Given the description of an element on the screen output the (x, y) to click on. 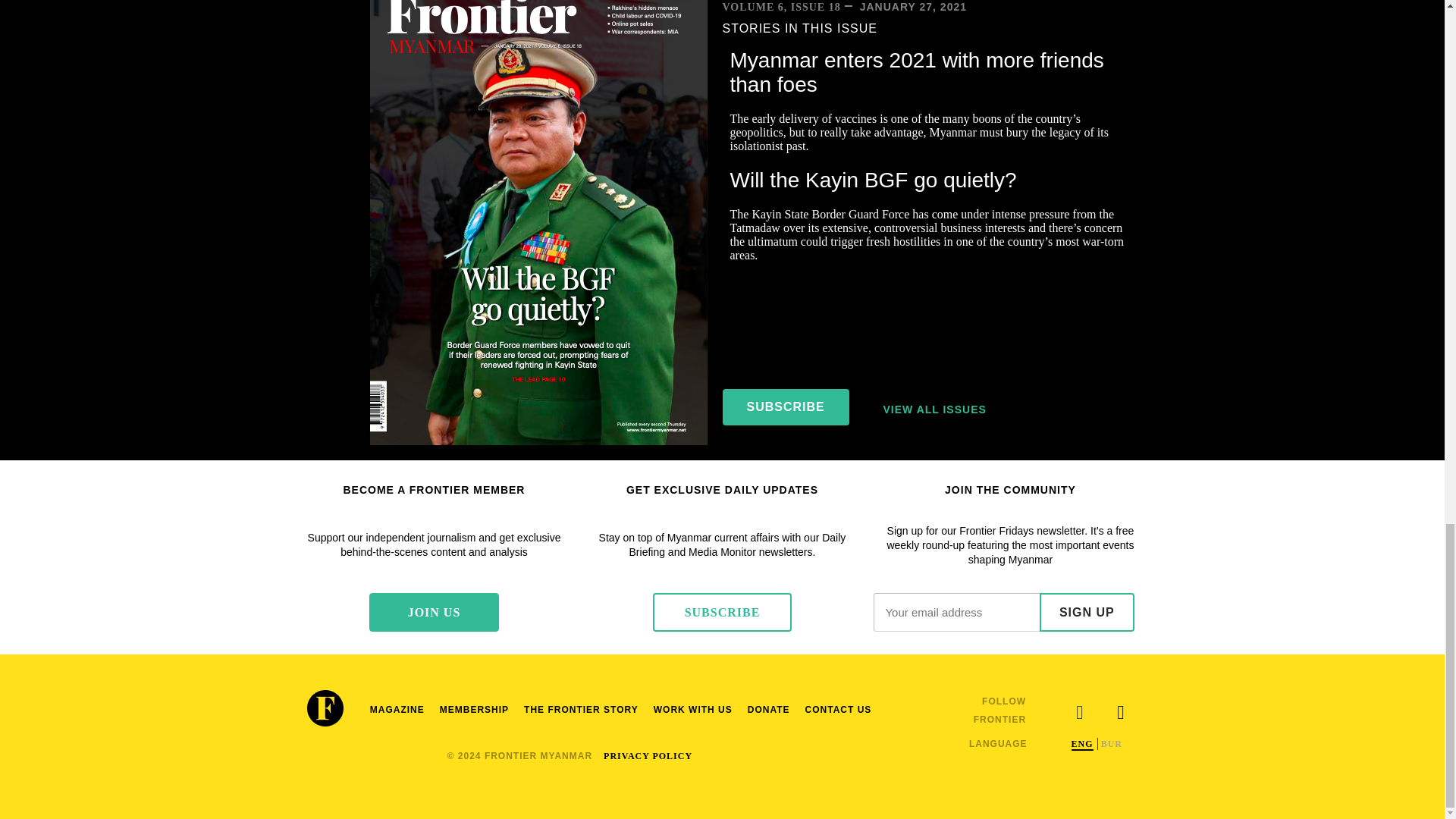
Sign Up (1086, 611)
VIEW ALL ISSUES (933, 409)
THE FRONTIER STORY (581, 709)
VOLUME 6, ISSUE 18 (781, 7)
SUBSCRIBE (785, 407)
Sign Up (1086, 611)
DONATE (768, 709)
JOIN US (434, 611)
WORK WITH US (692, 709)
MAGAZINE (397, 709)
SUBSCRIBE (722, 611)
MEMBERSHIP (474, 709)
